Given the description of an element on the screen output the (x, y) to click on. 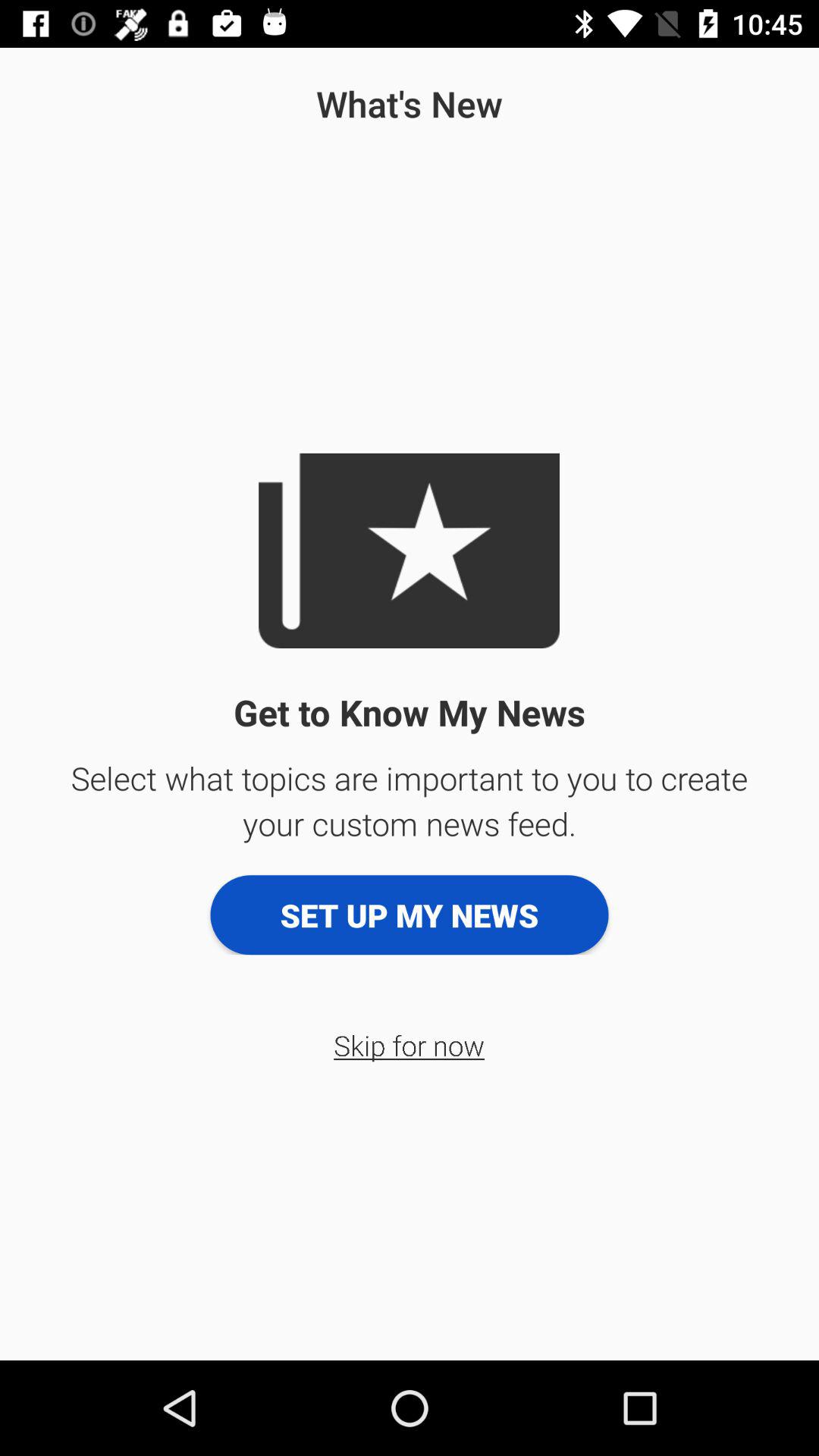
tap icon above skip for now icon (409, 914)
